Given the description of an element on the screen output the (x, y) to click on. 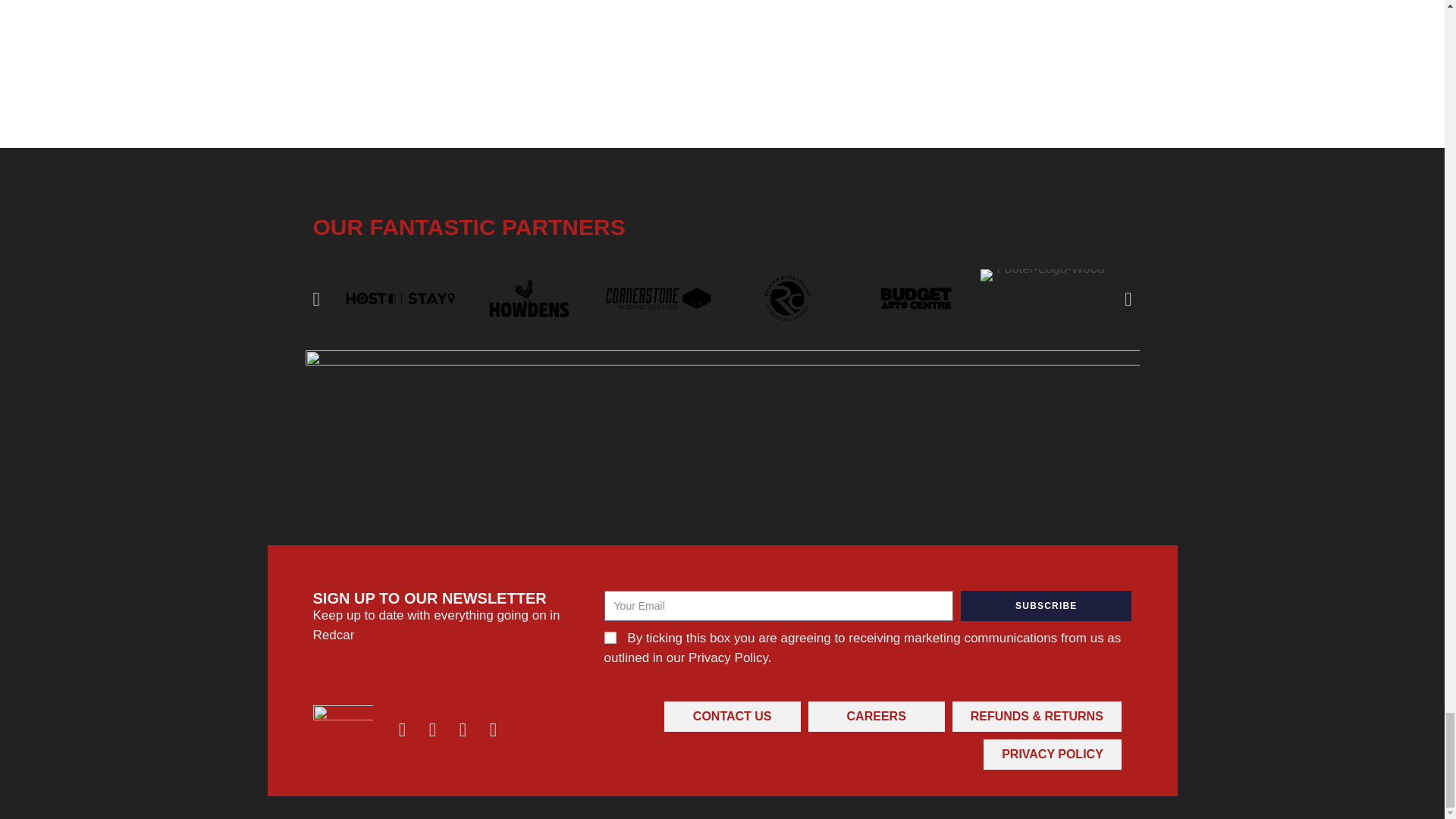
on (609, 637)
